Given the description of an element on the screen output the (x, y) to click on. 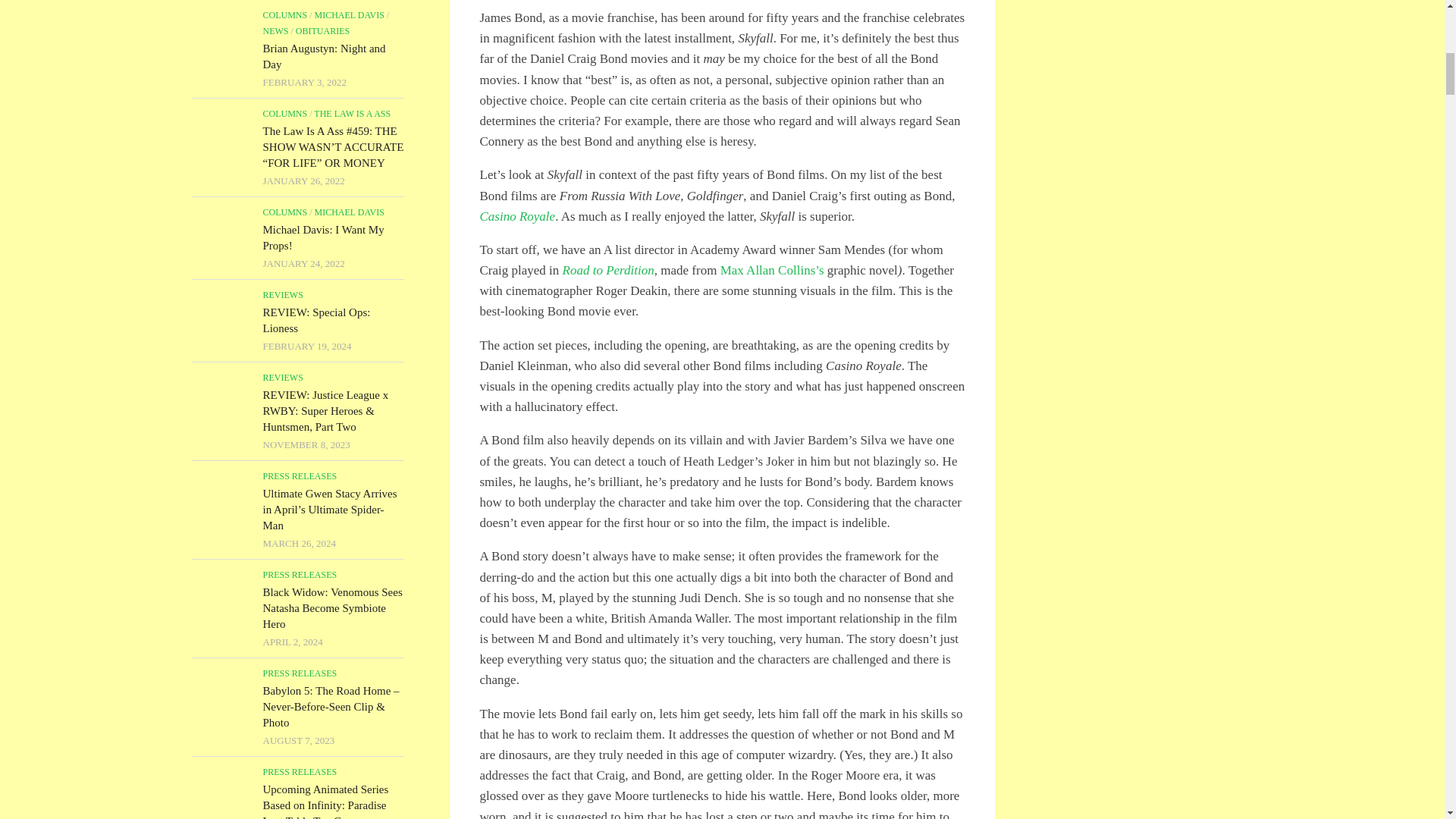
Max Allan Collins (772, 269)
Road to Perdition (607, 269)
Casino Royale (516, 216)
